Given the description of an element on the screen output the (x, y) to click on. 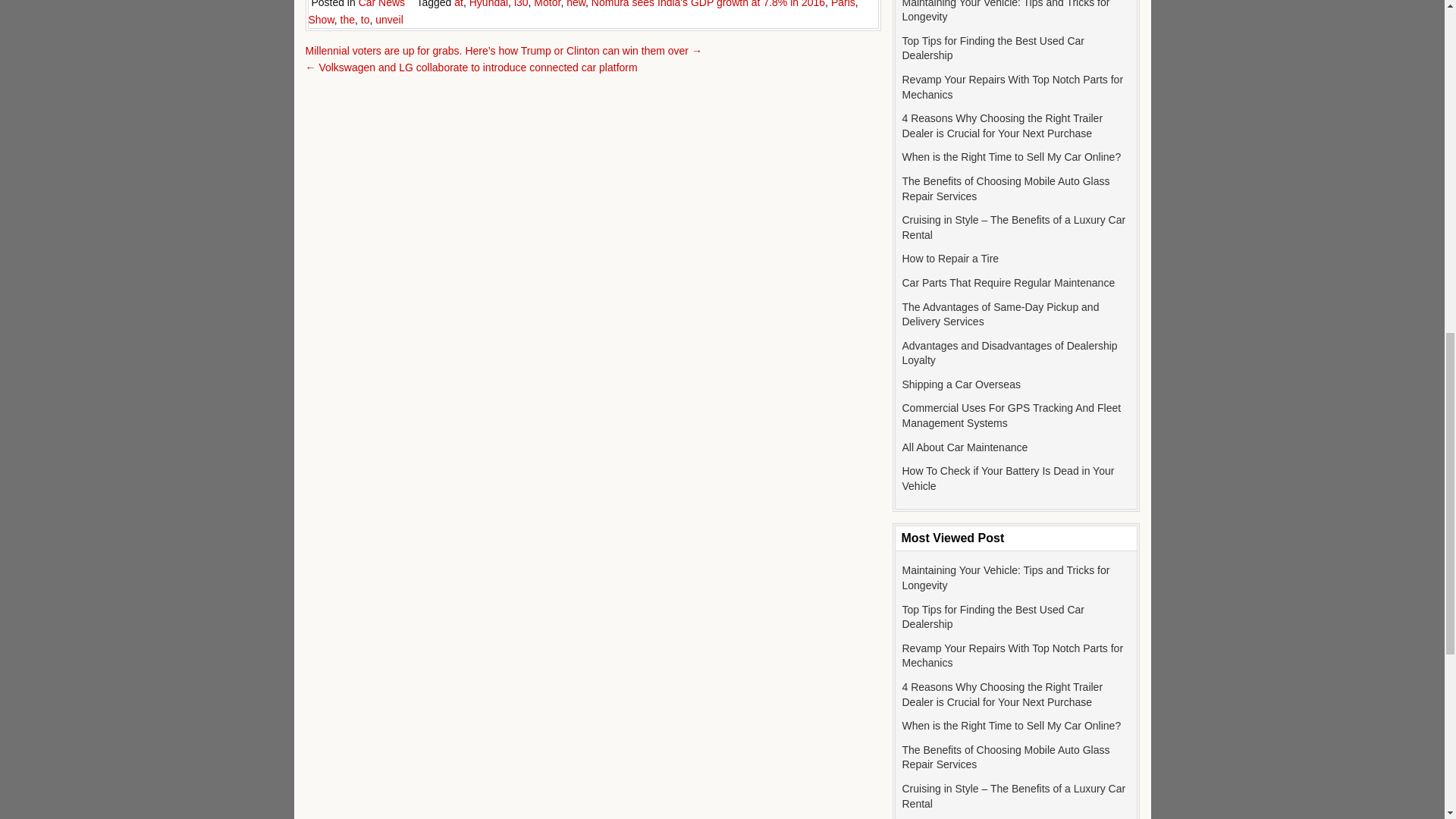
Car News (381, 4)
i30 (520, 4)
at (458, 4)
to (365, 19)
unveil (389, 19)
new (575, 4)
Paris (843, 4)
the (347, 19)
Hyundai (488, 4)
Show (320, 19)
Motor (547, 4)
